Given the description of an element on the screen output the (x, y) to click on. 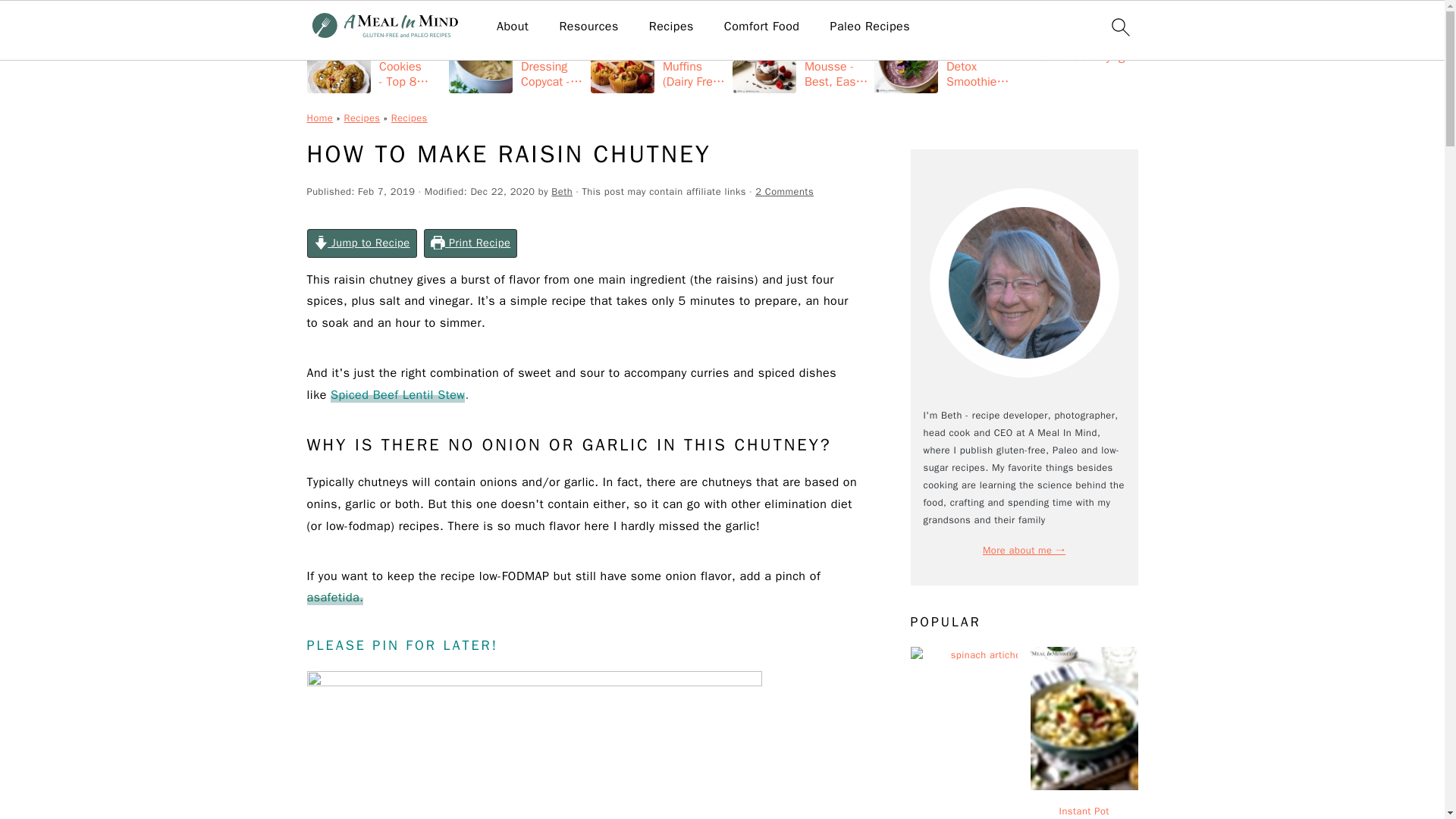
Easy Monster Cookies - Top 8 Allergen Free (373, 58)
Paleo Recipes (869, 26)
About (512, 26)
Resources (588, 26)
Comfort Food (761, 26)
Recipes (671, 26)
Easy Blueberry Detox Smoothie - Dr. Hyman's (941, 58)
Avocado Chocolate Mousse - Best, Easy Paleo Recipe (800, 58)
search icon (1119, 26)
